Given the description of an element on the screen output the (x, y) to click on. 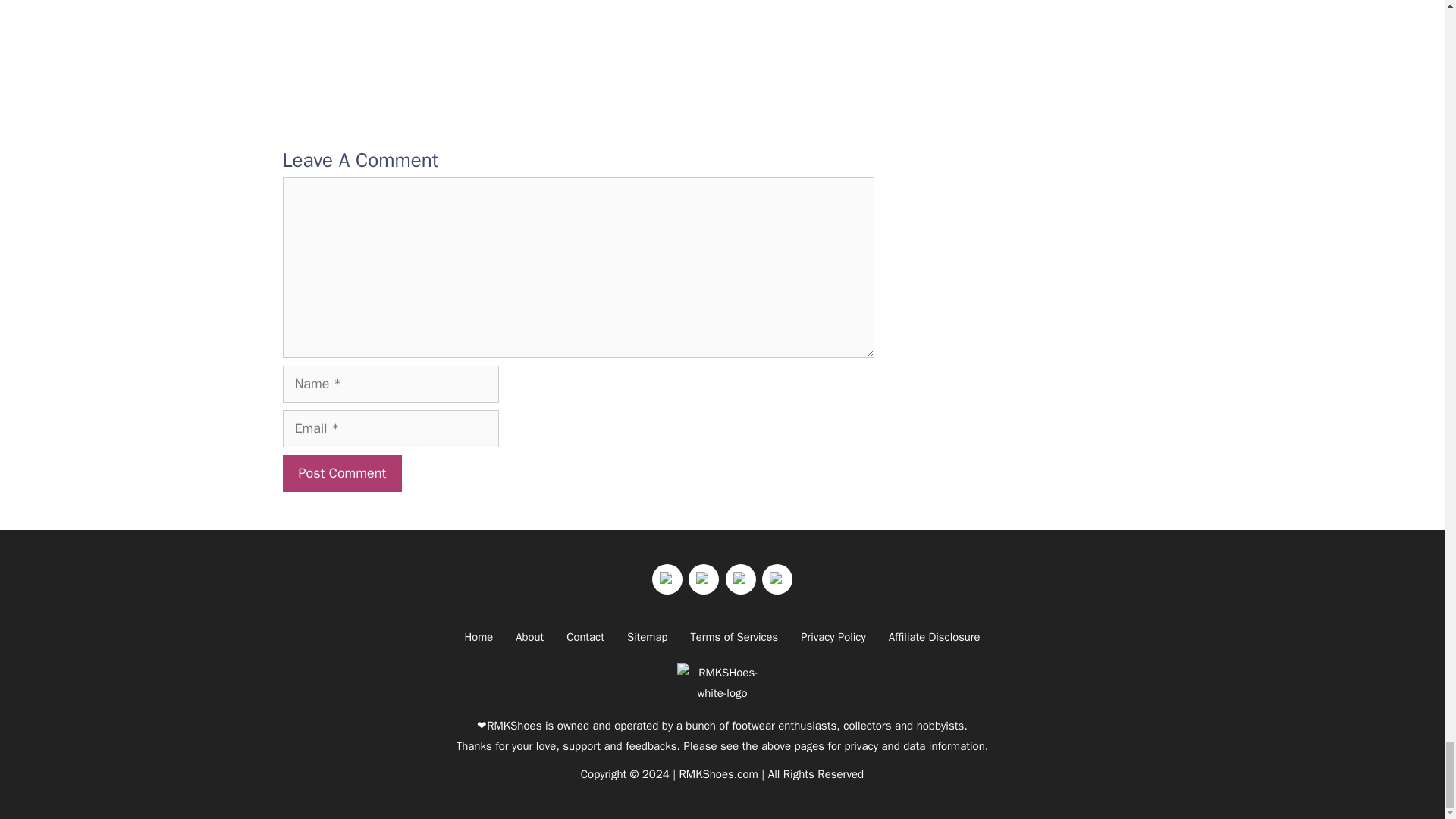
Twitter (667, 579)
Youtube (740, 579)
Instagram (703, 579)
Post Comment (341, 473)
